Given the description of an element on the screen output the (x, y) to click on. 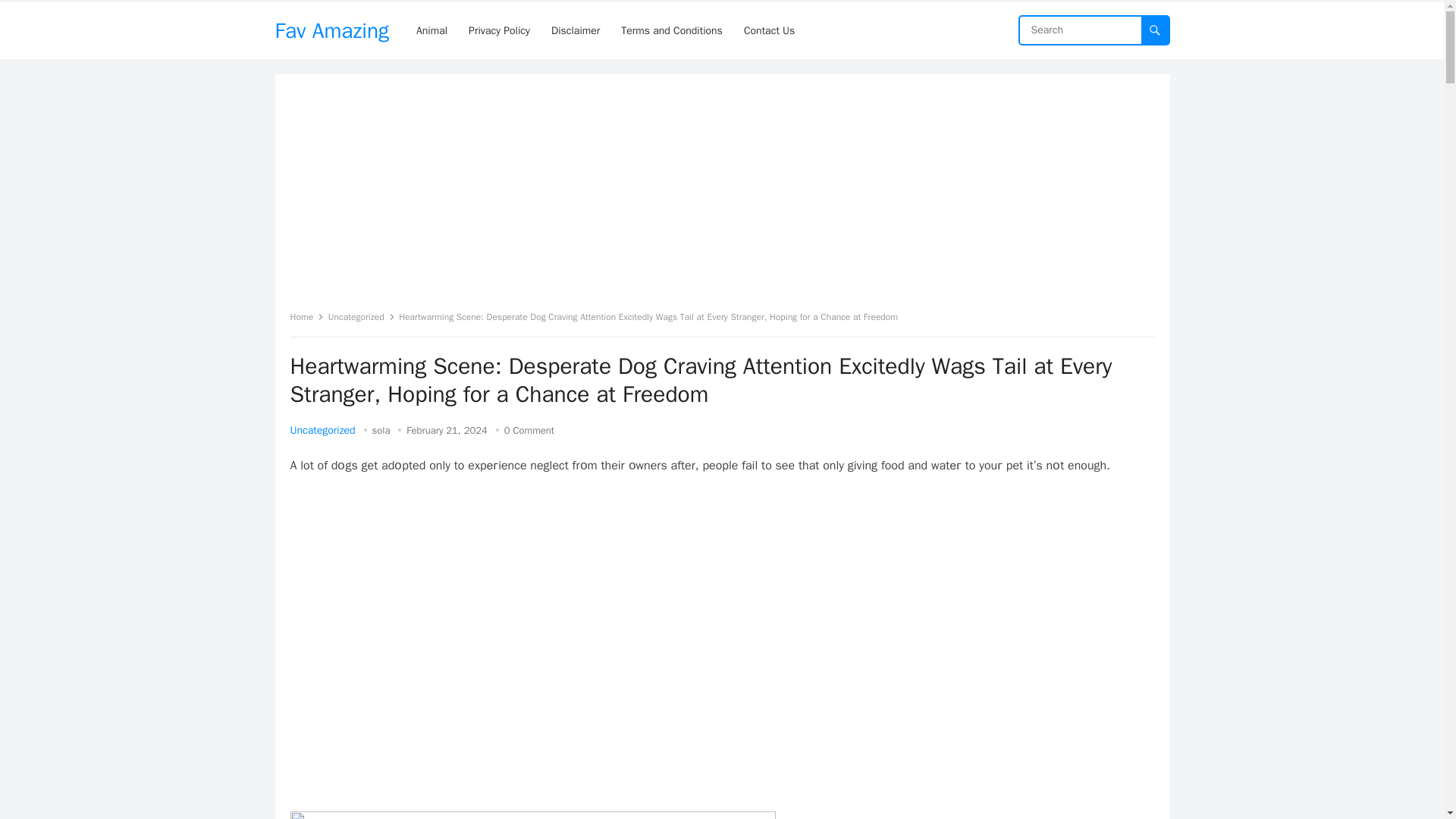
Terms and Conditions (671, 30)
Fav Amazing (331, 30)
Posts by sola (381, 430)
Disclaimer (574, 30)
Privacy Policy (499, 30)
Contact Us (769, 30)
0 Comment (528, 430)
sola (381, 430)
Uncategorized (322, 430)
Home (306, 316)
